Given the description of an element on the screen output the (x, y) to click on. 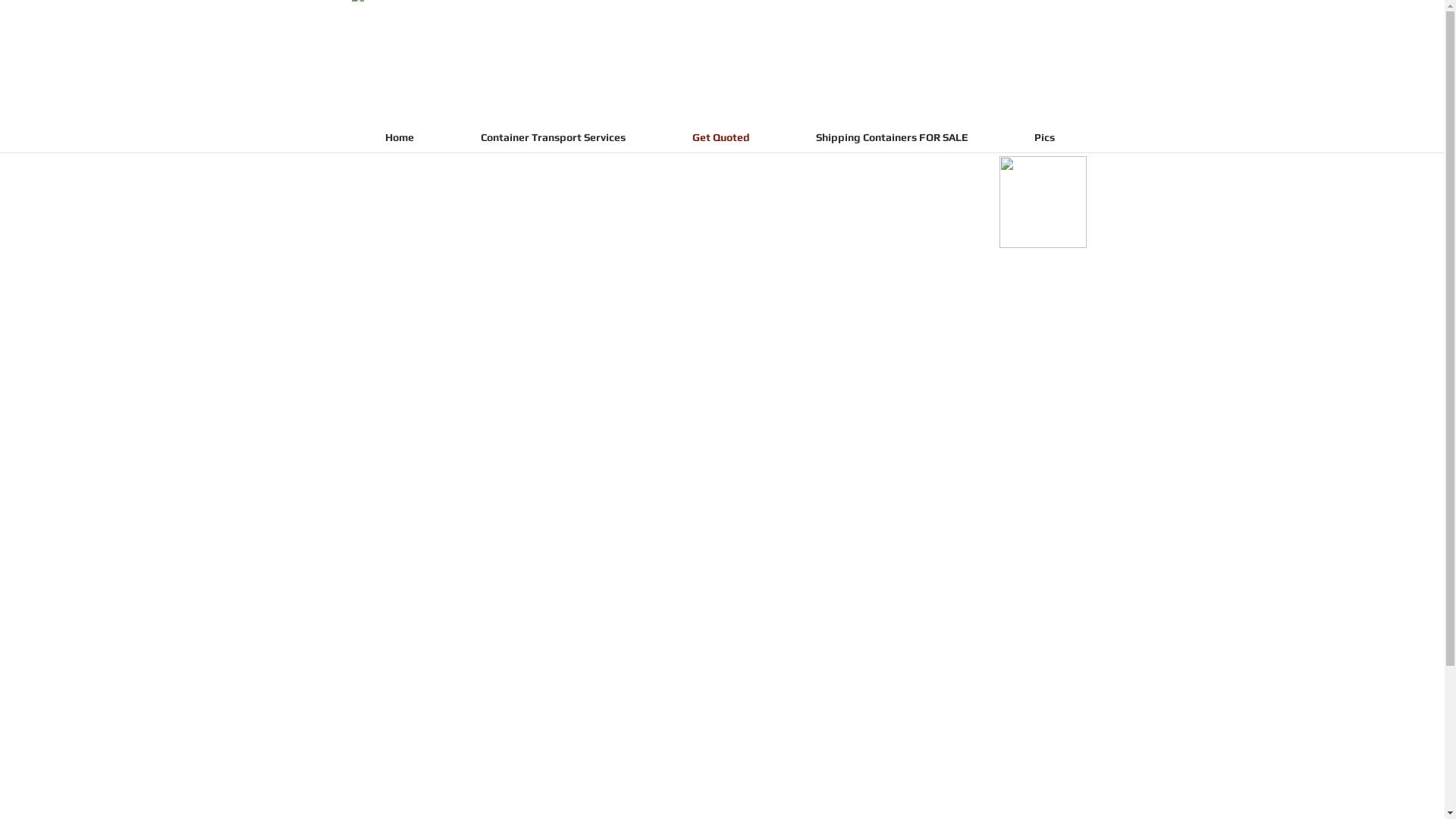
Container Transport Services Element type: text (552, 137)
Home Element type: text (399, 137)
Shipping Containers FOR SALE Element type: text (891, 137)
Get Quoted Element type: text (720, 137)
Pics Element type: text (1044, 137)
